Given the description of an element on the screen output the (x, y) to click on. 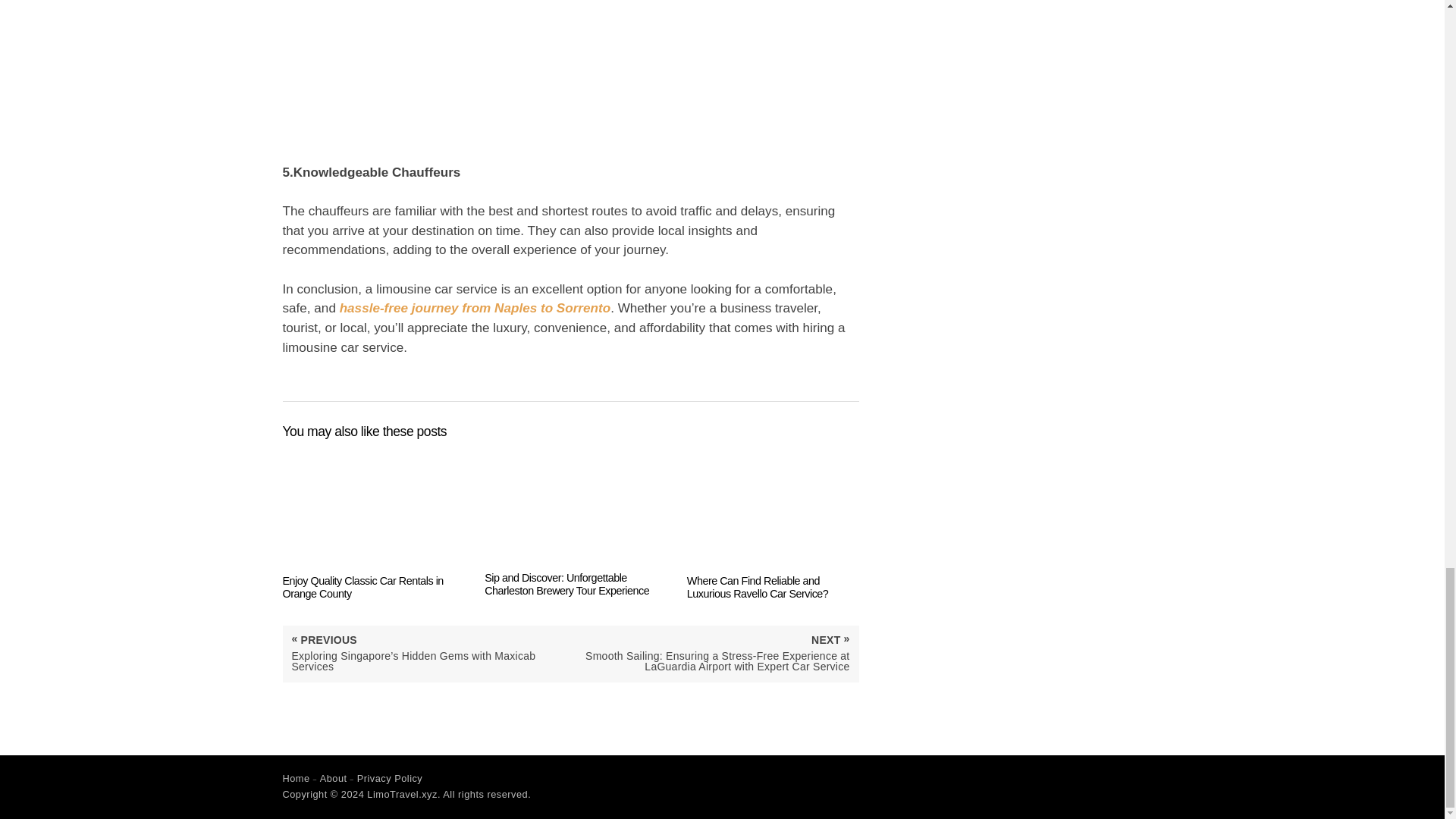
About (333, 778)
Privacy Policy (389, 778)
Enjoy Quality Classic Car Rentals in Orange County (368, 524)
Where Can Find Reliable and Luxurious Ravello Car Service? (773, 524)
hassle-free journey from Naples to Sorrento (474, 308)
Where Can Find Reliable and Luxurious Ravello Car Service? (773, 524)
Home (295, 778)
Enjoy Quality Classic Car Rentals in Orange County (368, 524)
